Given the description of an element on the screen output the (x, y) to click on. 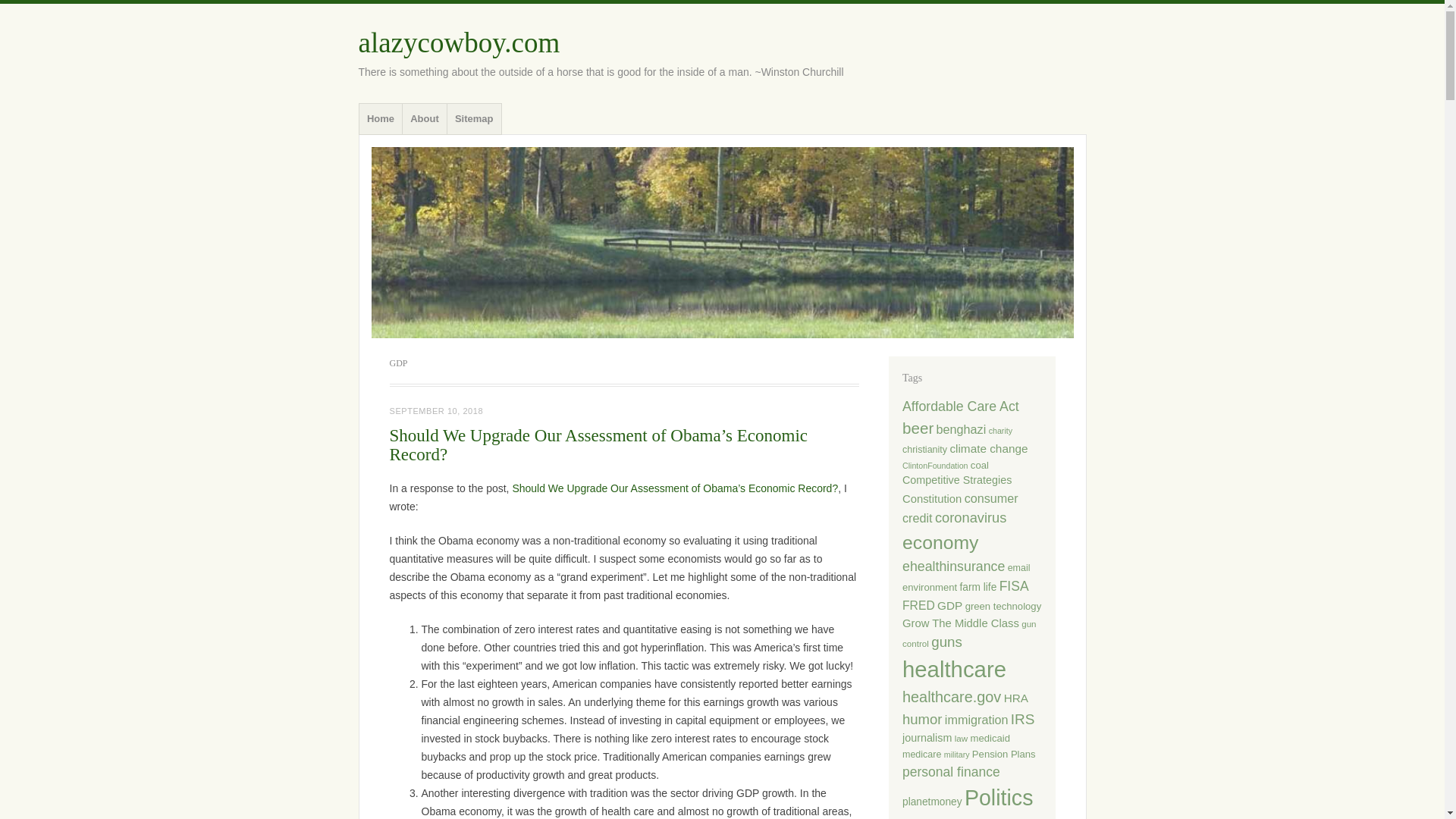
Sitemap (474, 119)
Home (380, 119)
4:19 pm (436, 410)
About (423, 119)
alazycowboy.com (458, 42)
SEPTEMBER 10, 2018 (436, 410)
alazycowboy.com (458, 42)
